Given the description of an element on the screen output the (x, y) to click on. 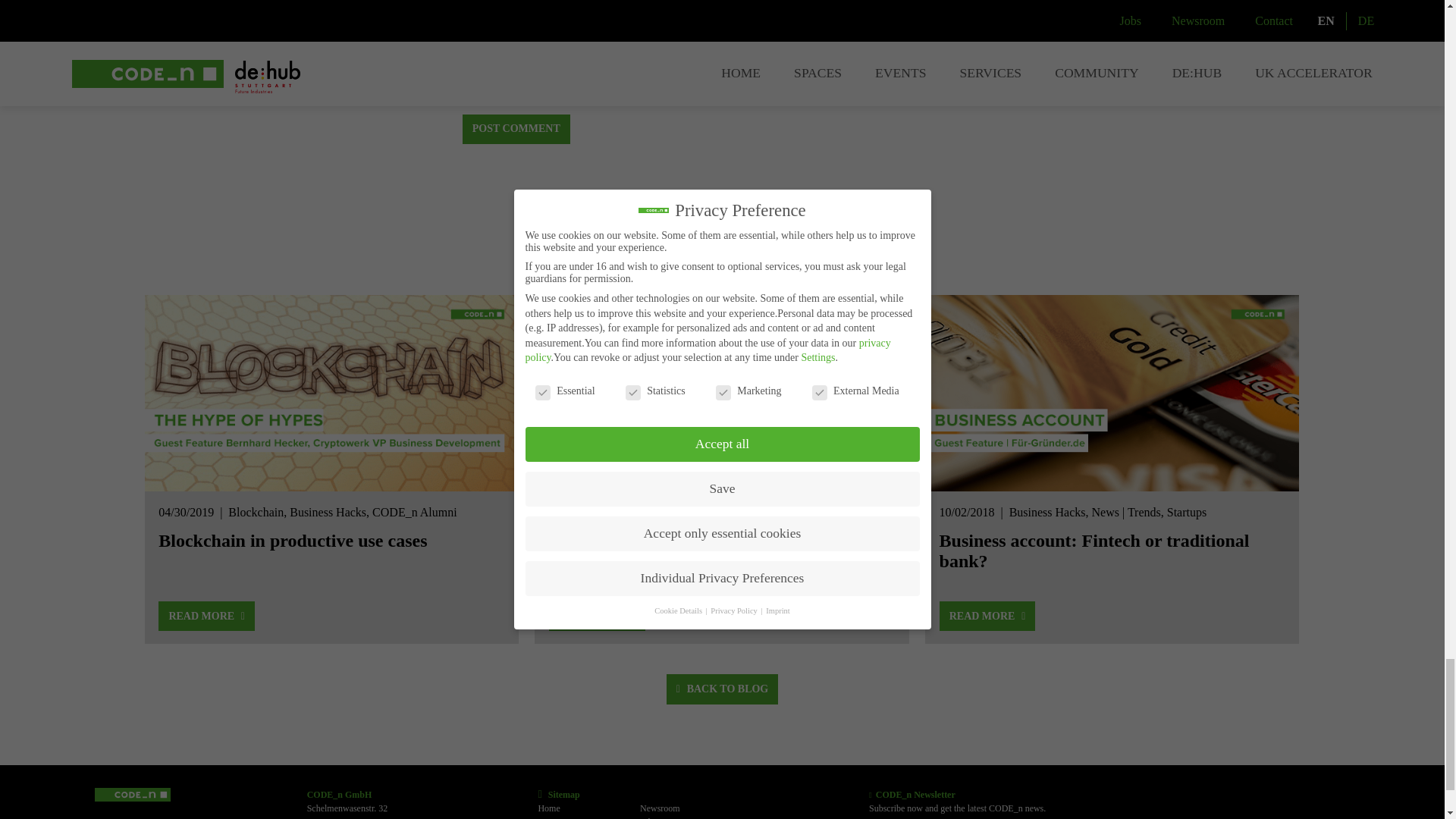
Post Comment (516, 129)
